Given the description of an element on the screen output the (x, y) to click on. 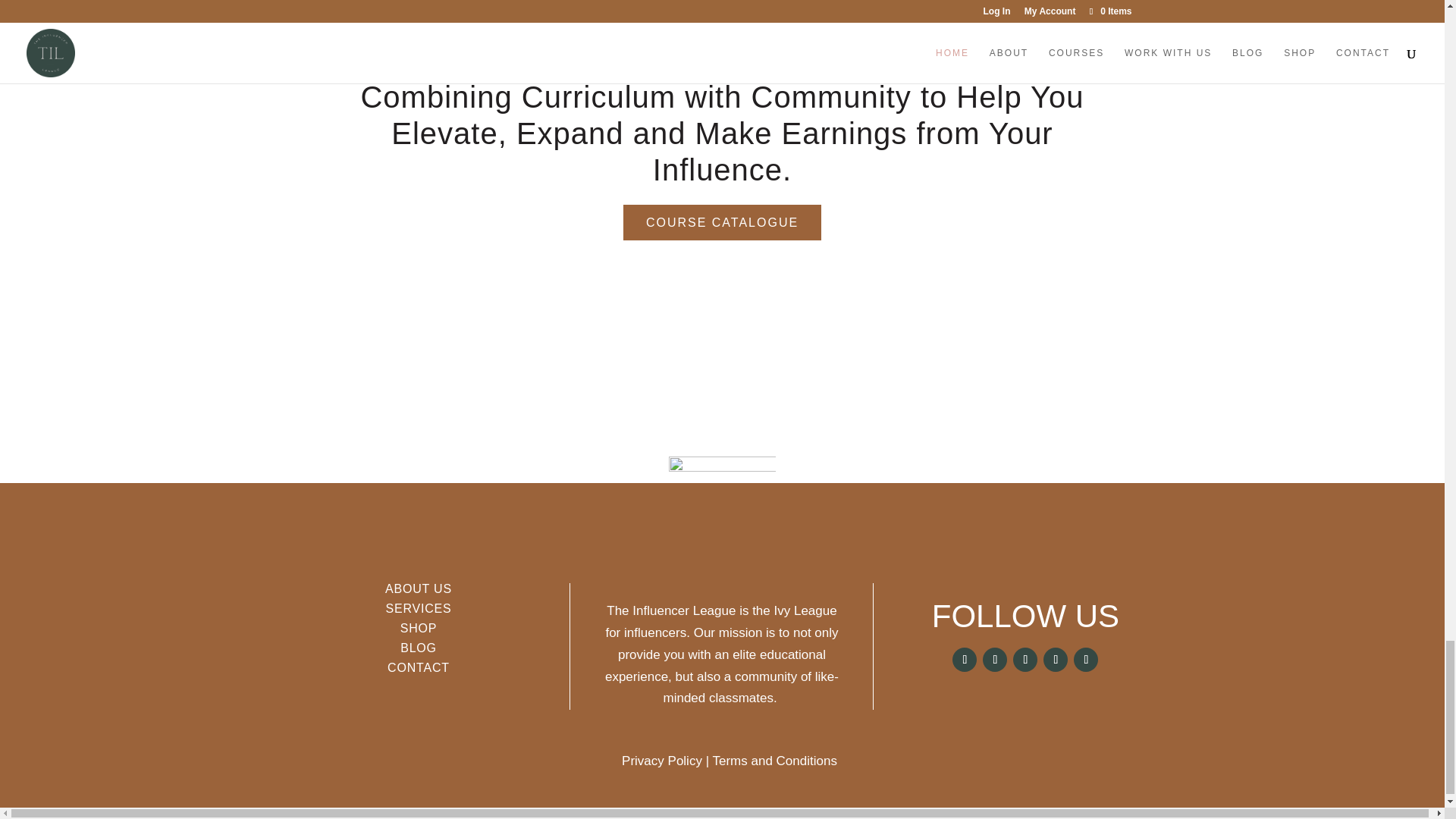
COURSE CATALOGUE (722, 222)
Follow on Instagram (1024, 659)
CONTACT (418, 667)
SERVICES (418, 608)
Follow on X (994, 659)
Follow on LinkedIn (1055, 659)
Follow on Pinterest (1085, 659)
BLOG (418, 647)
SHOP (419, 627)
Follow on Facebook (964, 659)
